Given the description of an element on the screen output the (x, y) to click on. 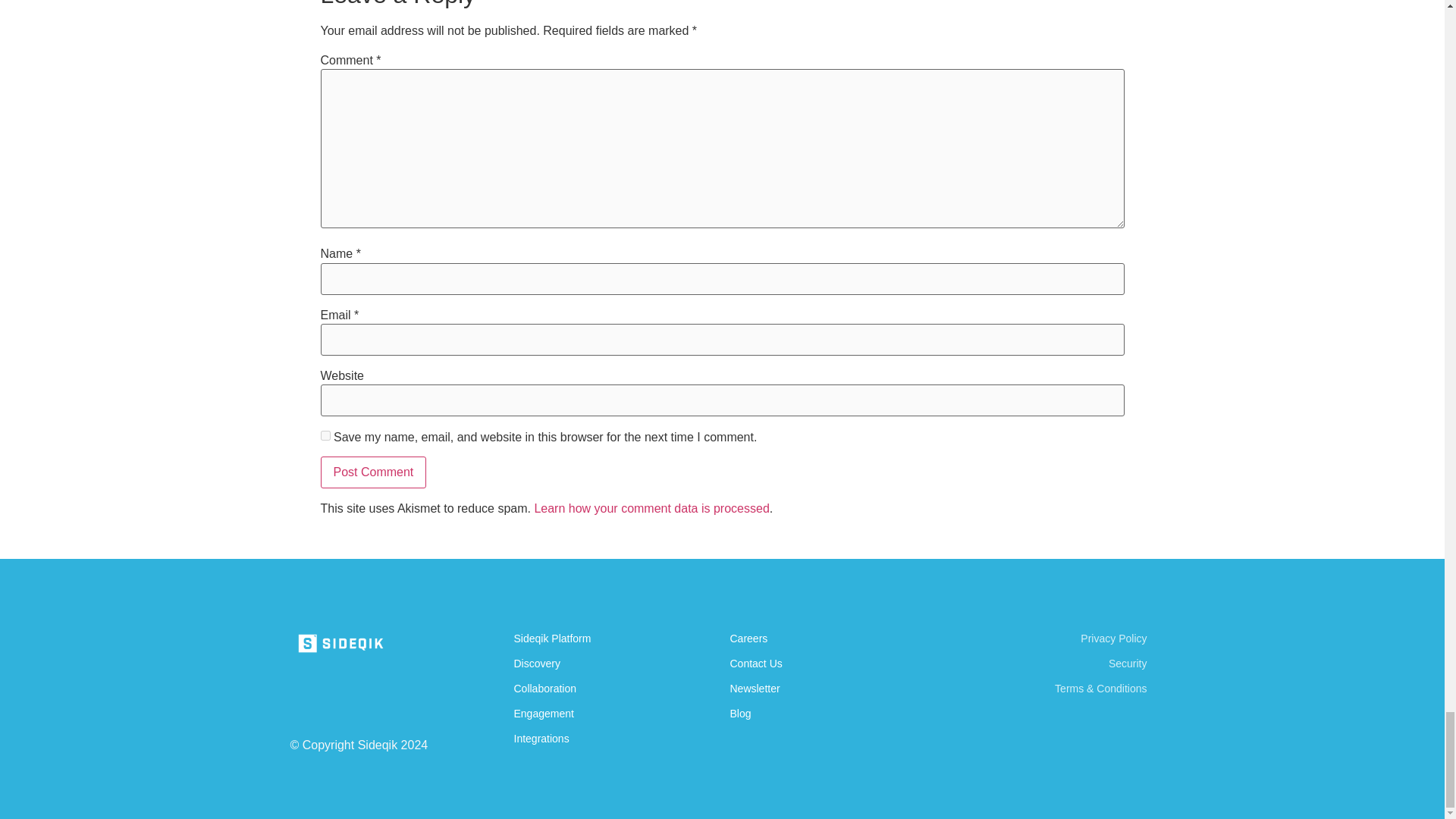
Post Comment (373, 472)
yes (325, 435)
